Given the description of an element on the screen output the (x, y) to click on. 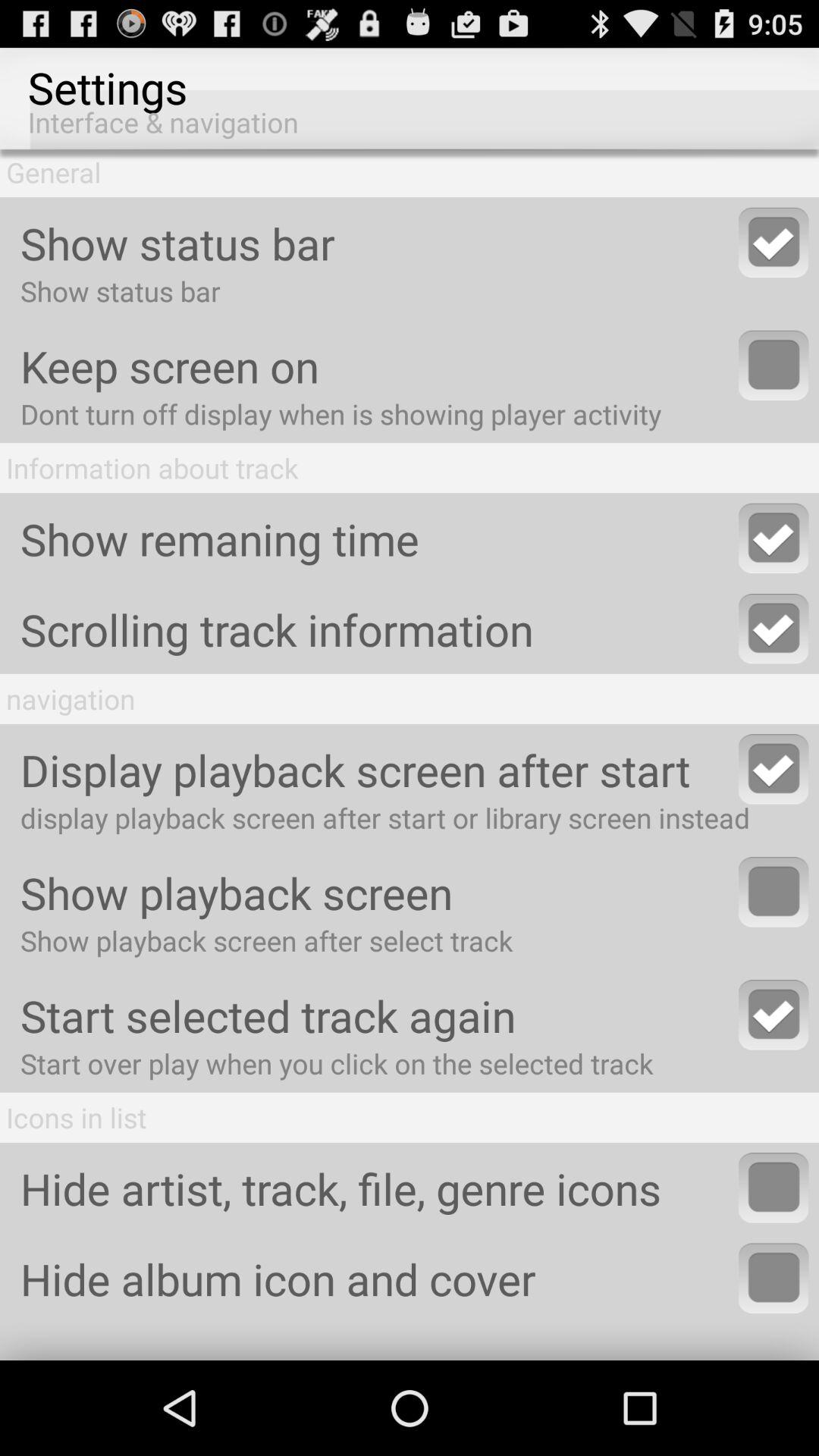
toggle hide alibum (773, 1278)
